Given the description of an element on the screen output the (x, y) to click on. 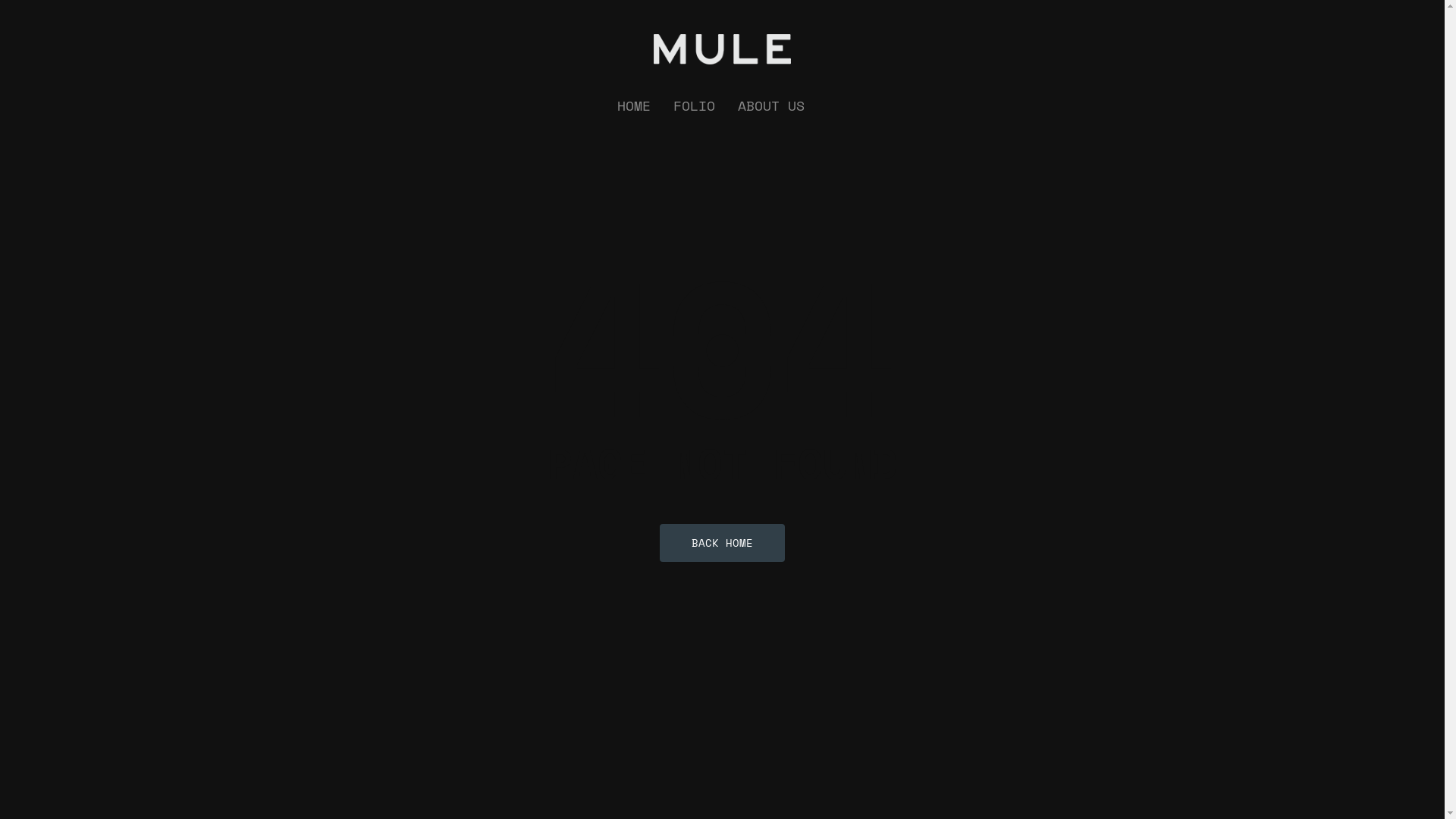
FOLIO Element type: text (694, 105)
BACK HOME Element type: text (721, 542)
ABOUT US Element type: text (770, 105)
HOME Element type: text (633, 105)
